Given the description of an element on the screen output the (x, y) to click on. 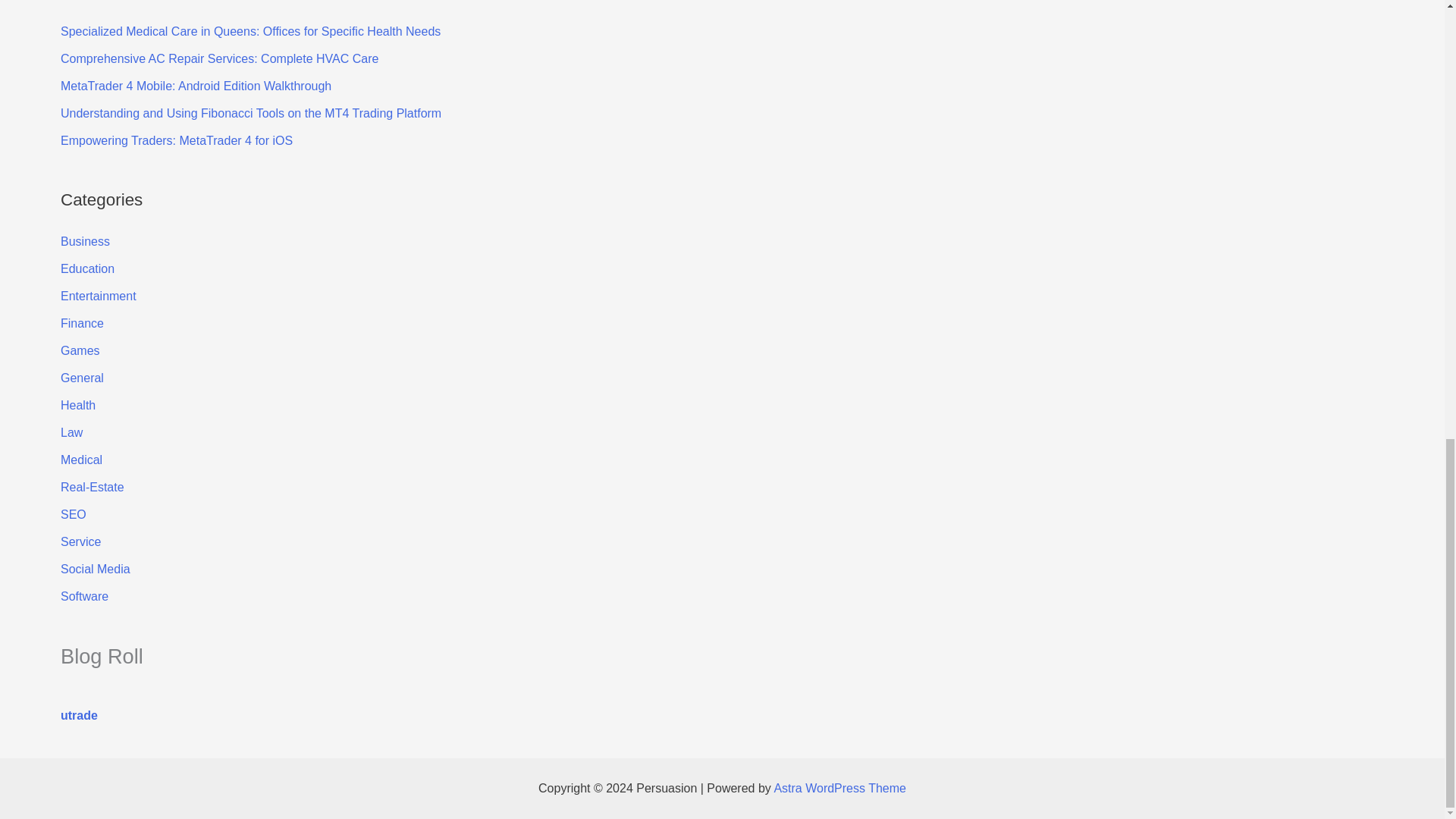
Medical (81, 459)
SEO (73, 513)
Education (88, 268)
Business (85, 241)
Astra WordPress Theme (839, 788)
Software (84, 595)
Law (71, 431)
General (82, 377)
Games (80, 350)
Social Media (96, 568)
Finance (82, 323)
Comprehensive AC Repair Services: Complete HVAC Care (219, 58)
Real-Estate (92, 486)
Entertainment (98, 295)
